Given the description of an element on the screen output the (x, y) to click on. 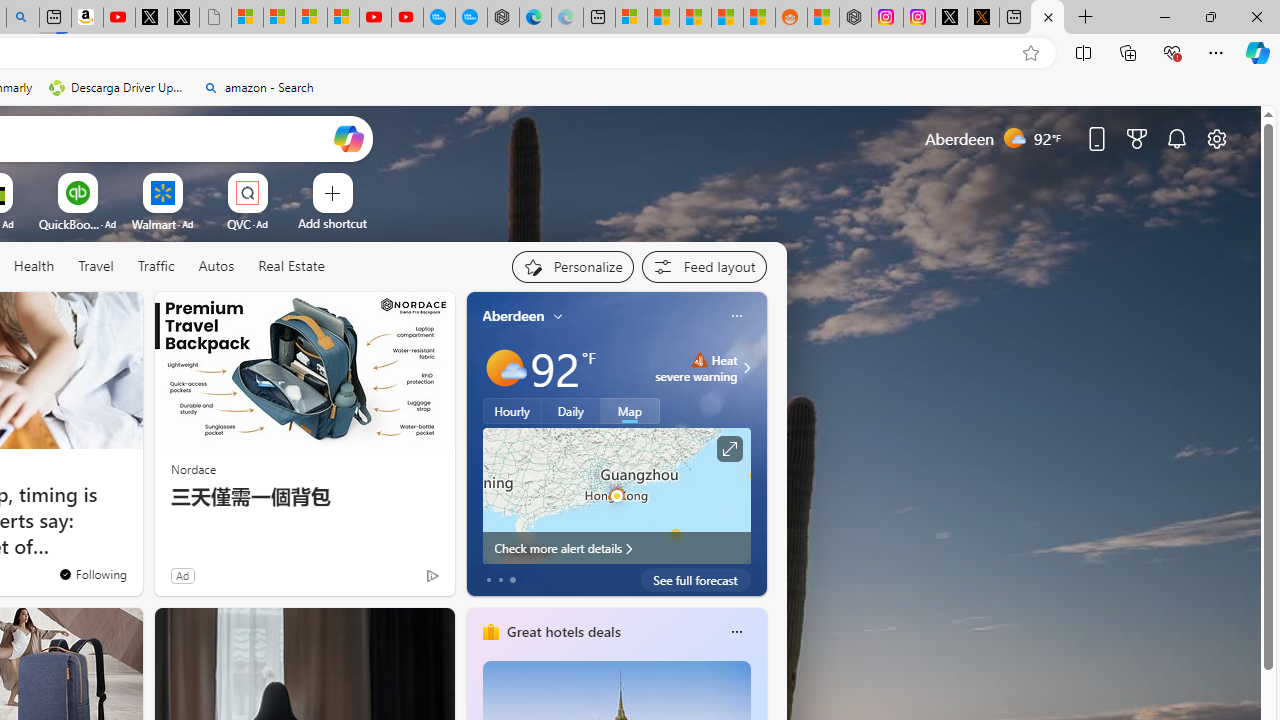
Traffic (155, 265)
Larger map  (616, 495)
Gloom - YouTube (374, 17)
Notifications (1176, 138)
Autos (216, 267)
Class: weather-arrow-glyph (746, 367)
help.x.com | 524: A timeout occurred (983, 17)
Add a site (332, 223)
